Given the description of an element on the screen output the (x, y) to click on. 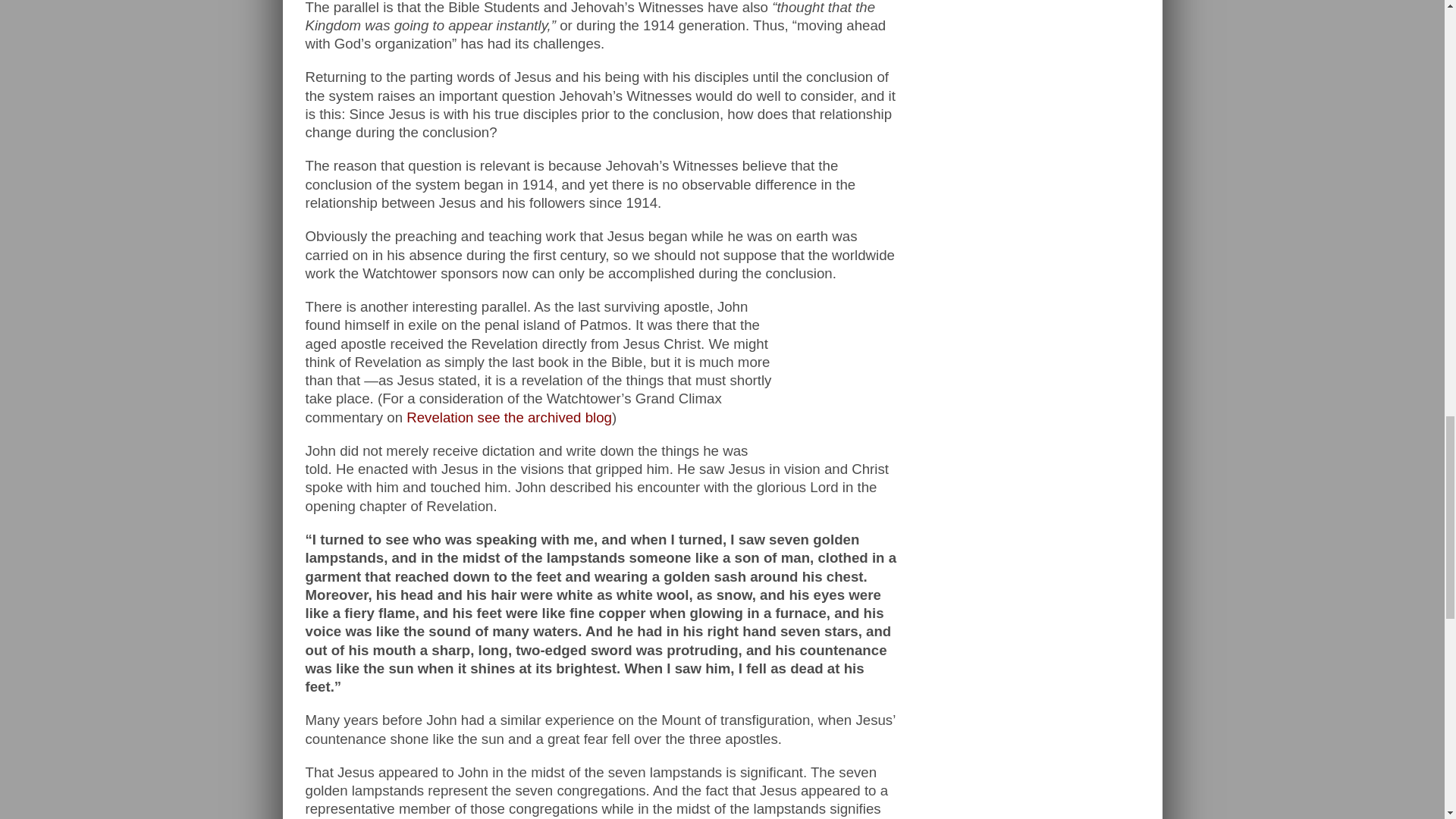
Revelation see the archived blog (508, 417)
